Given the description of an element on the screen output the (x, y) to click on. 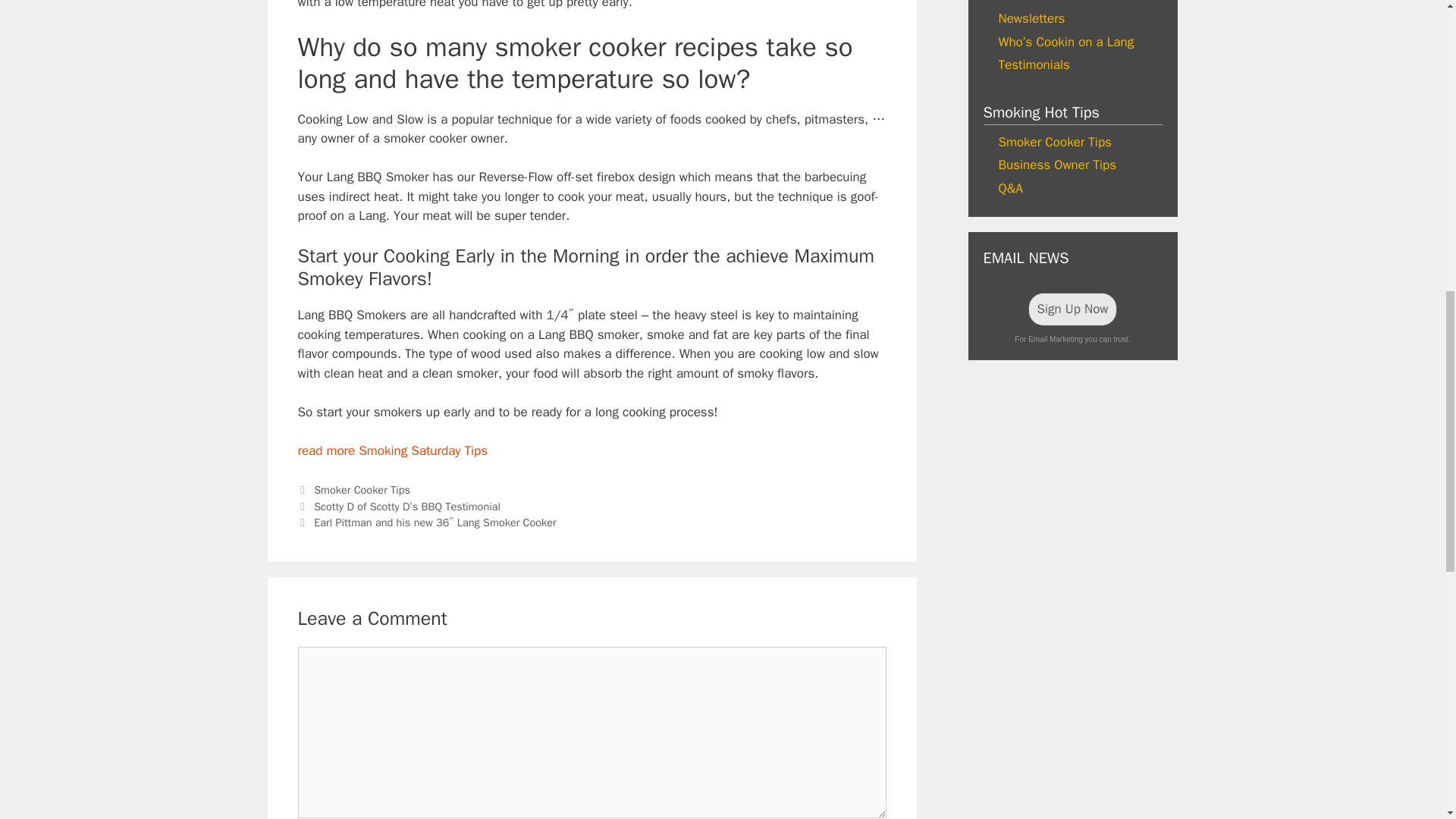
News (1012, 2)
Testimonials (1032, 64)
Smoker Cooker Tips (1053, 141)
Newsletters (1030, 18)
Smoker Cooker Tips (362, 489)
read more Smoking Saturday Tips (392, 450)
